Given the description of an element on the screen output the (x, y) to click on. 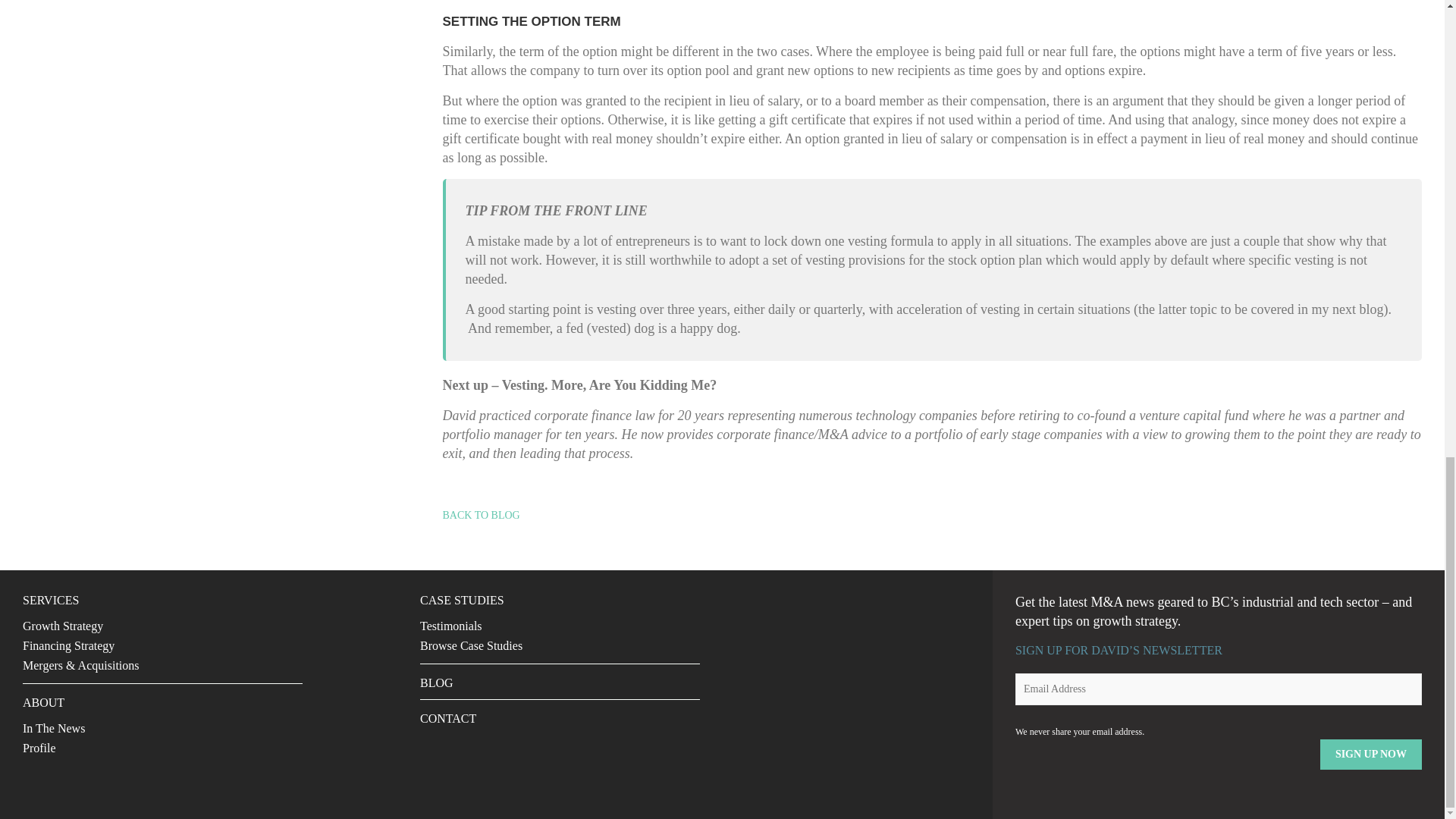
In The News (53, 727)
Growth Strategy (63, 625)
Profile (39, 748)
SERVICES (50, 599)
ABOUT (43, 702)
BACK TO BLOG (480, 514)
Testimonials (450, 625)
CONTACT (448, 717)
Sign Up Now (1371, 754)
BLOG (436, 682)
